Given the description of an element on the screen output the (x, y) to click on. 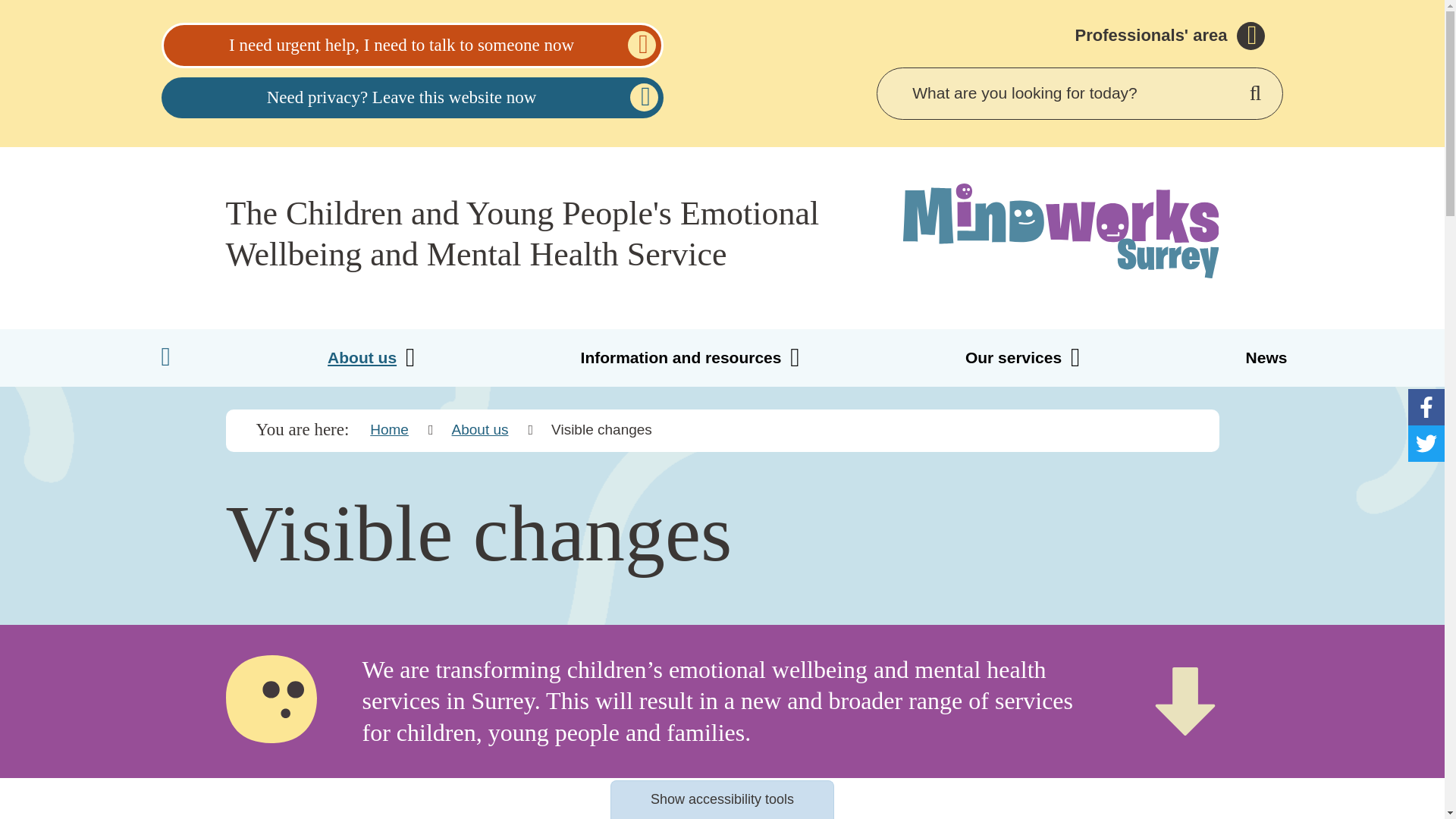
Amplify Mindworks (980, 334)
Mindworks Surrey (1060, 230)
Our THRIVE approach (268, 334)
Our other partners (253, 292)
Privacy, confidentiality and information sharing (1072, 249)
Managing emotions (620, 249)
Our alliance partners (262, 249)
Need privacy? Leave this website now (411, 96)
Eating disorders (247, 292)
Visible changes (607, 292)
Mindworks Surrey (1061, 232)
Information and resources (691, 357)
Anxiety (217, 207)
Professionals' area (1170, 35)
Our vision for the future (633, 334)
